Given the description of an element on the screen output the (x, y) to click on. 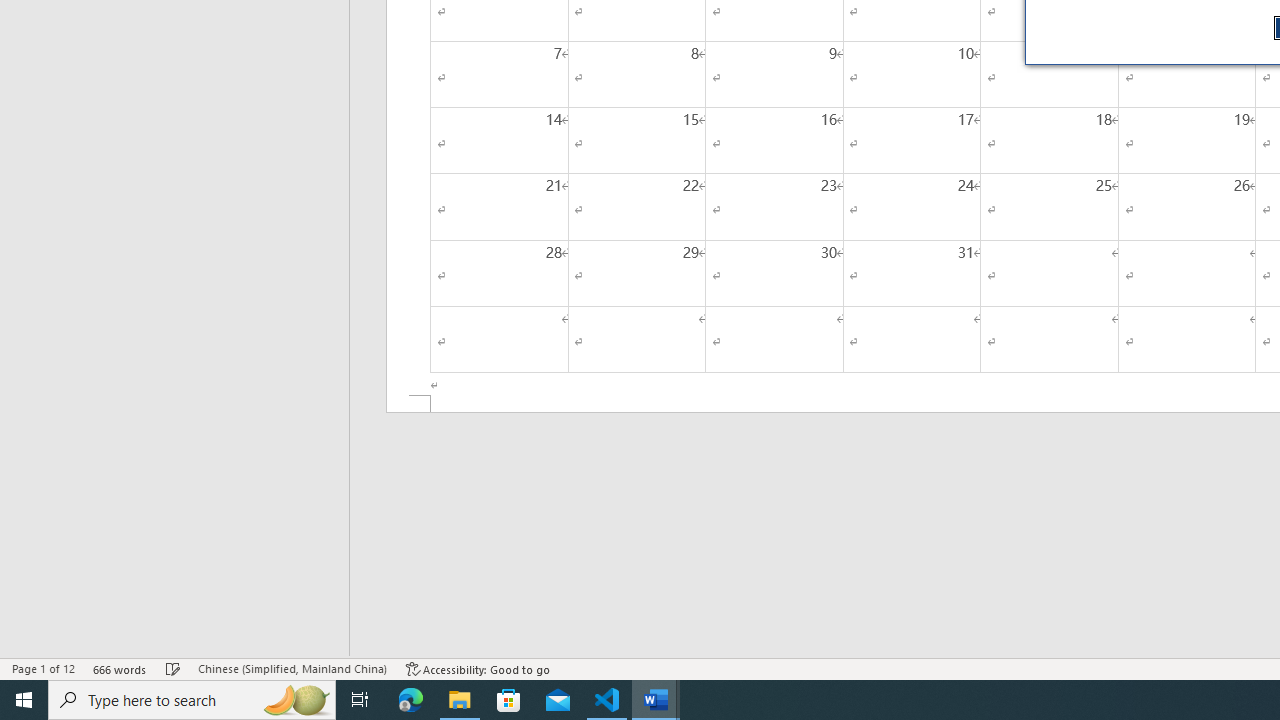
Word - 2 running windows (656, 699)
Word Count 666 words (119, 668)
File Explorer - 1 running window (460, 699)
Microsoft Edge (411, 699)
